Given the description of an element on the screen output the (x, y) to click on. 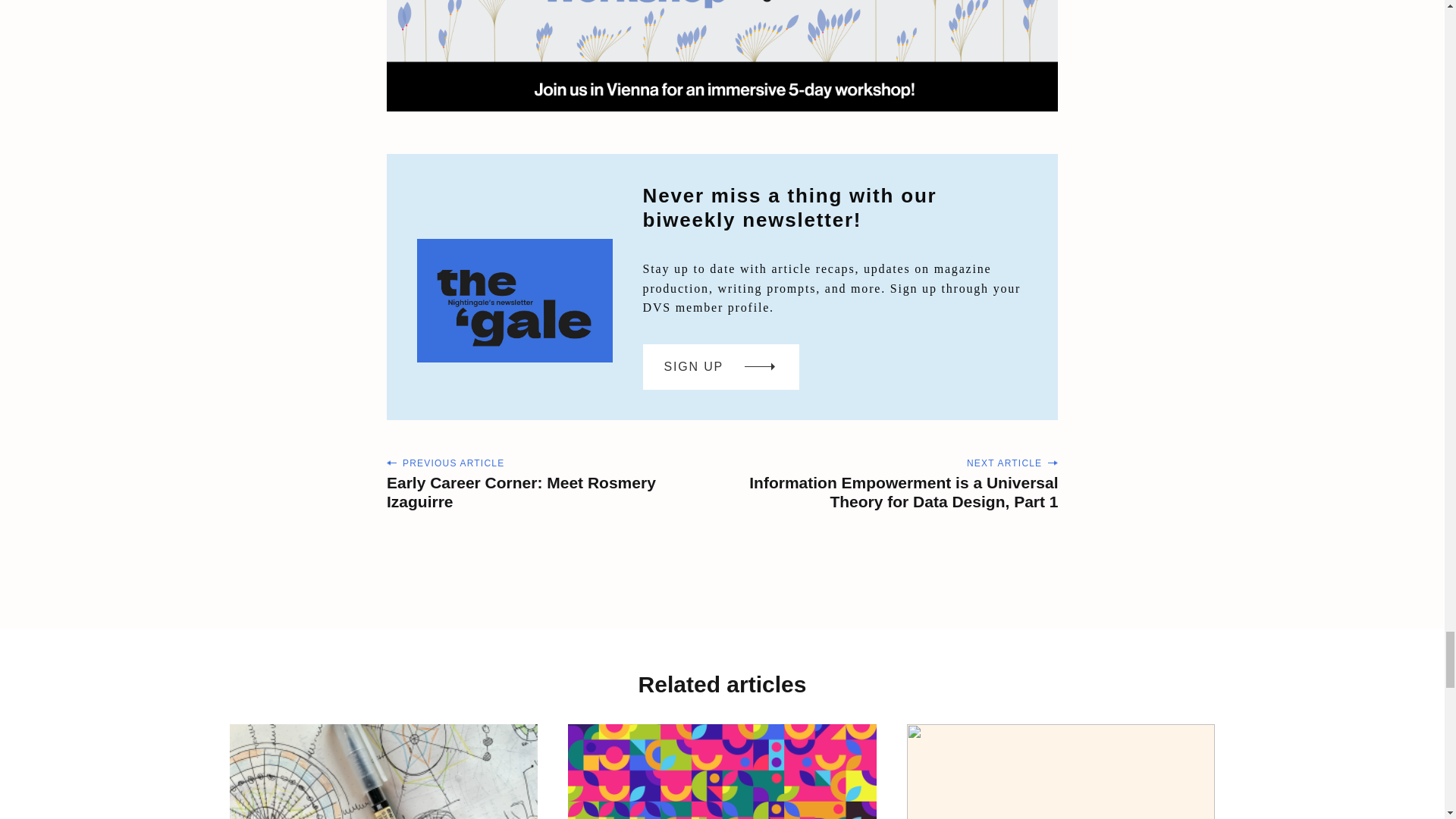
From our sponsors (722, 56)
